Given the description of an element on the screen output the (x, y) to click on. 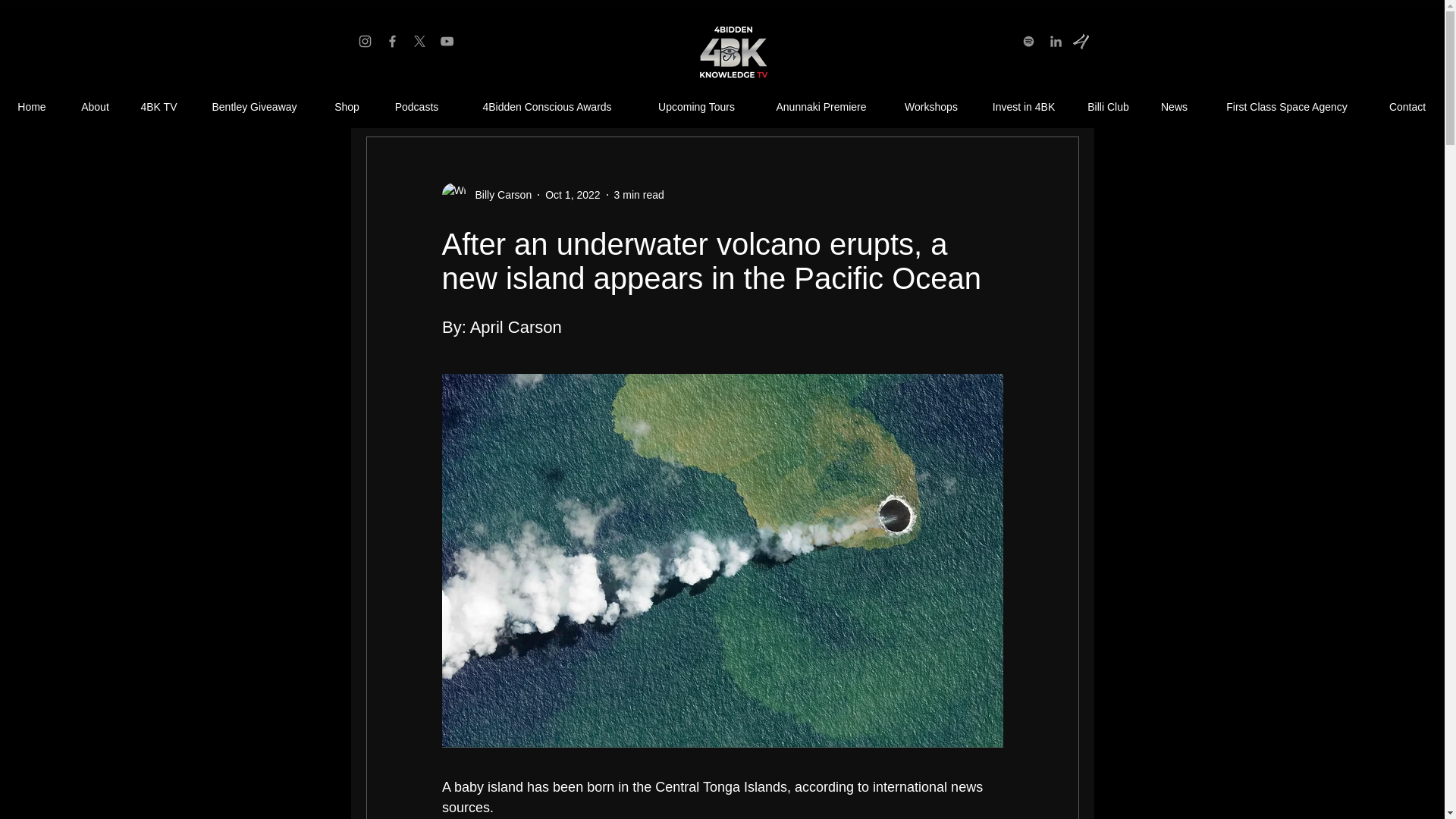
4BiddenKnowledge (731, 52)
Anunnaki Premiere (820, 107)
Billi Club (1107, 107)
Oct 1, 2022 (571, 193)
3 min read (638, 193)
First Class Space Agency (1287, 107)
Billy Carson (486, 194)
Billy Carson (498, 194)
Bentley Giveaway (253, 107)
Invest in 4BK (1023, 107)
Workshops (930, 107)
Home (32, 107)
